Given the description of an element on the screen output the (x, y) to click on. 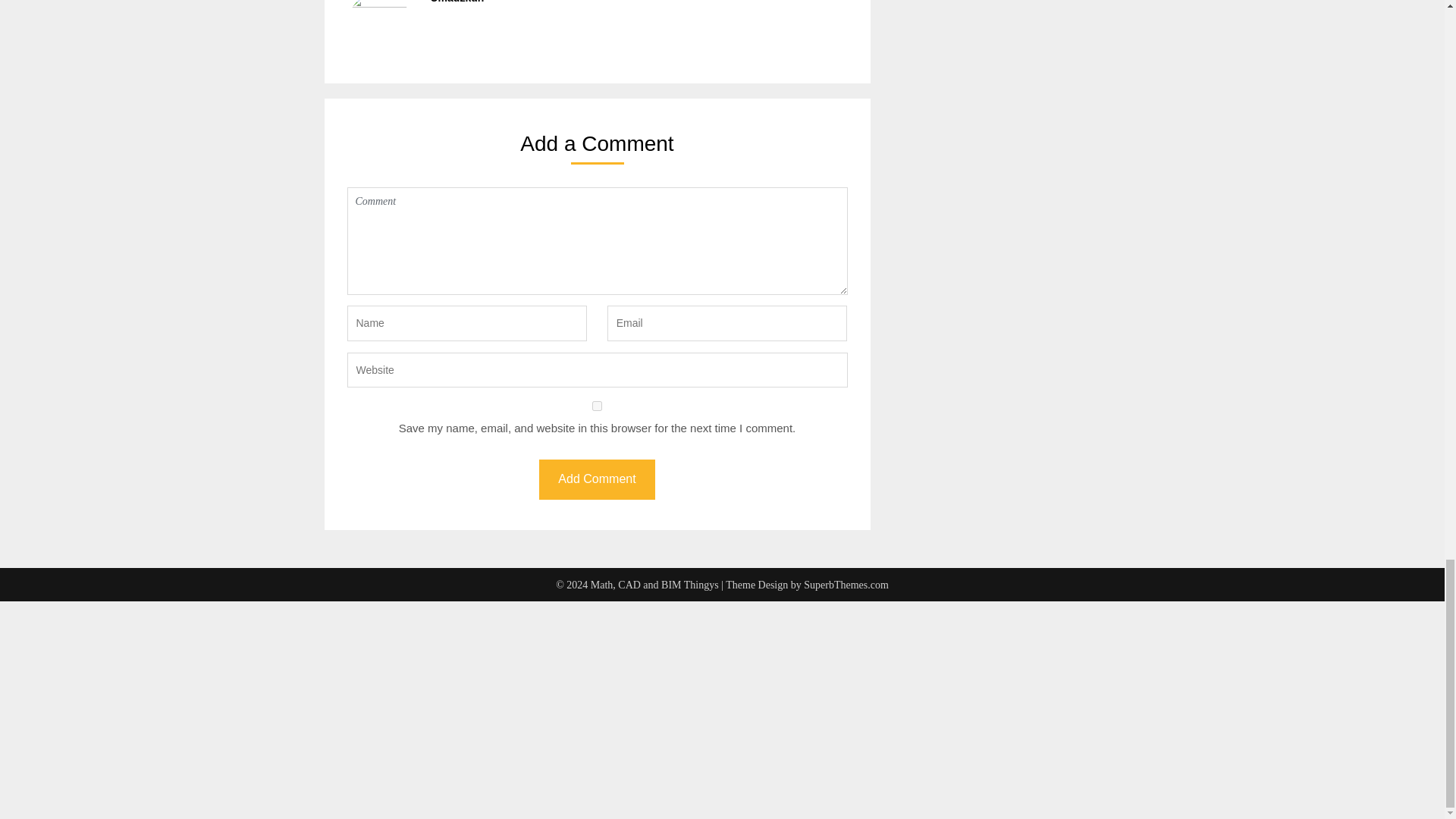
Add Comment (595, 479)
SuperbThemes.com (845, 584)
yes (597, 406)
Add Comment (595, 479)
